Given the description of an element on the screen output the (x, y) to click on. 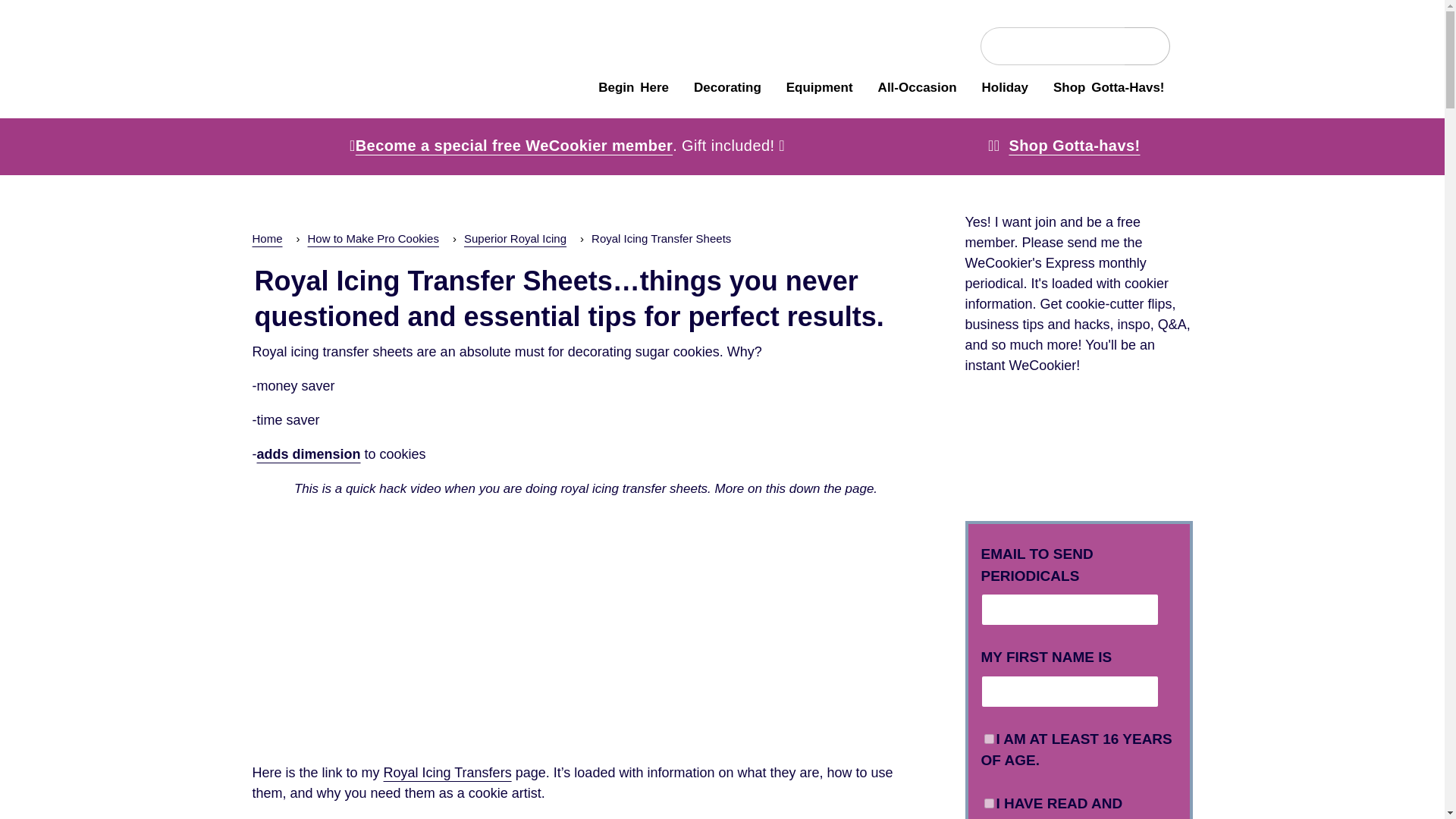
Home (266, 237)
Shop Gotta-havs! (1074, 145)
on (989, 738)
How to Make Pro Cookies (373, 237)
on (989, 802)
adds dimension (307, 453)
Royal Icing Transfers (448, 772)
Become a special free WeCookier member (513, 145)
Superior Royal Icing (515, 237)
